Given the description of an element on the screen output the (x, y) to click on. 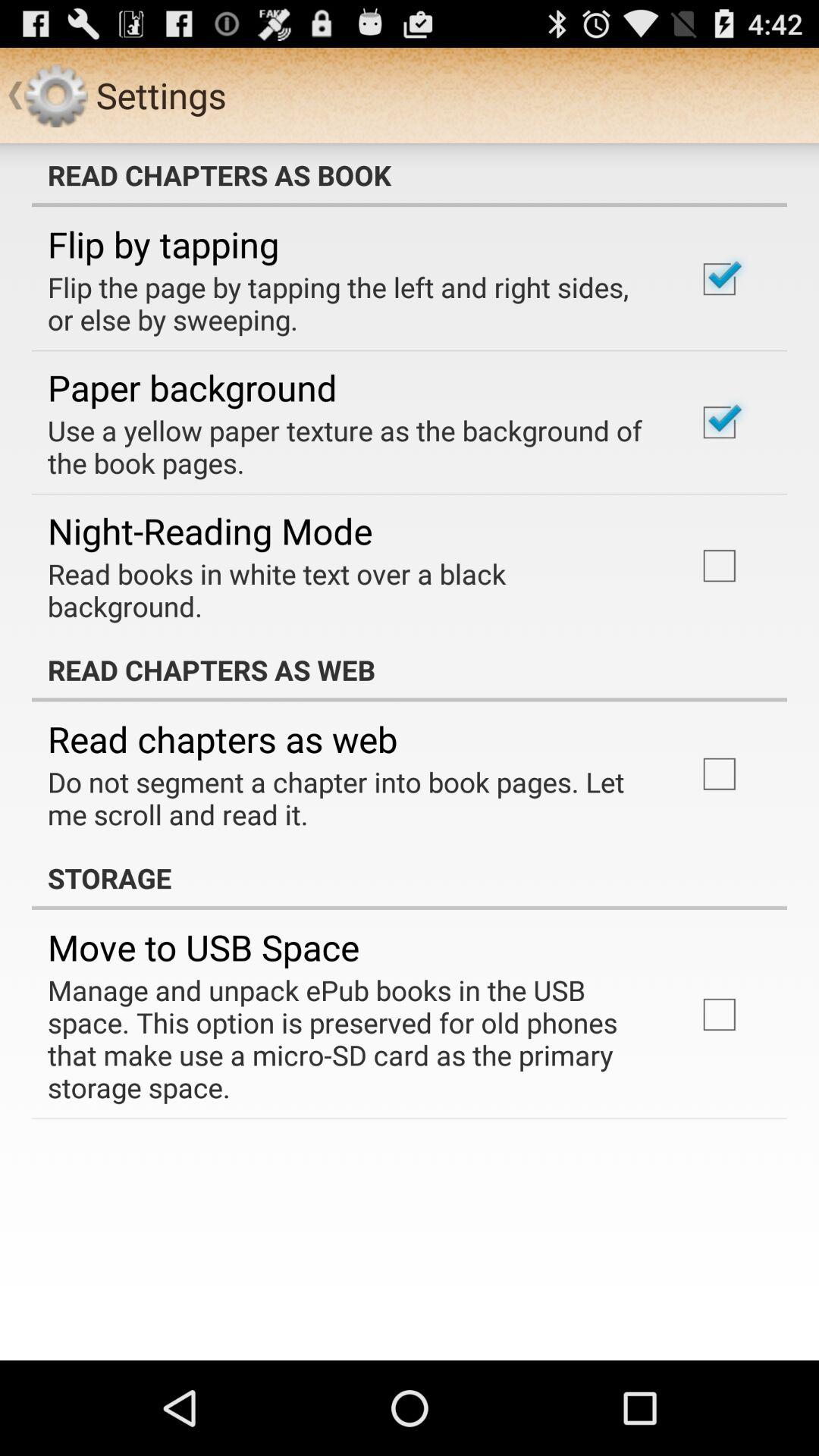
select do not segment (351, 798)
